Given the description of an element on the screen output the (x, y) to click on. 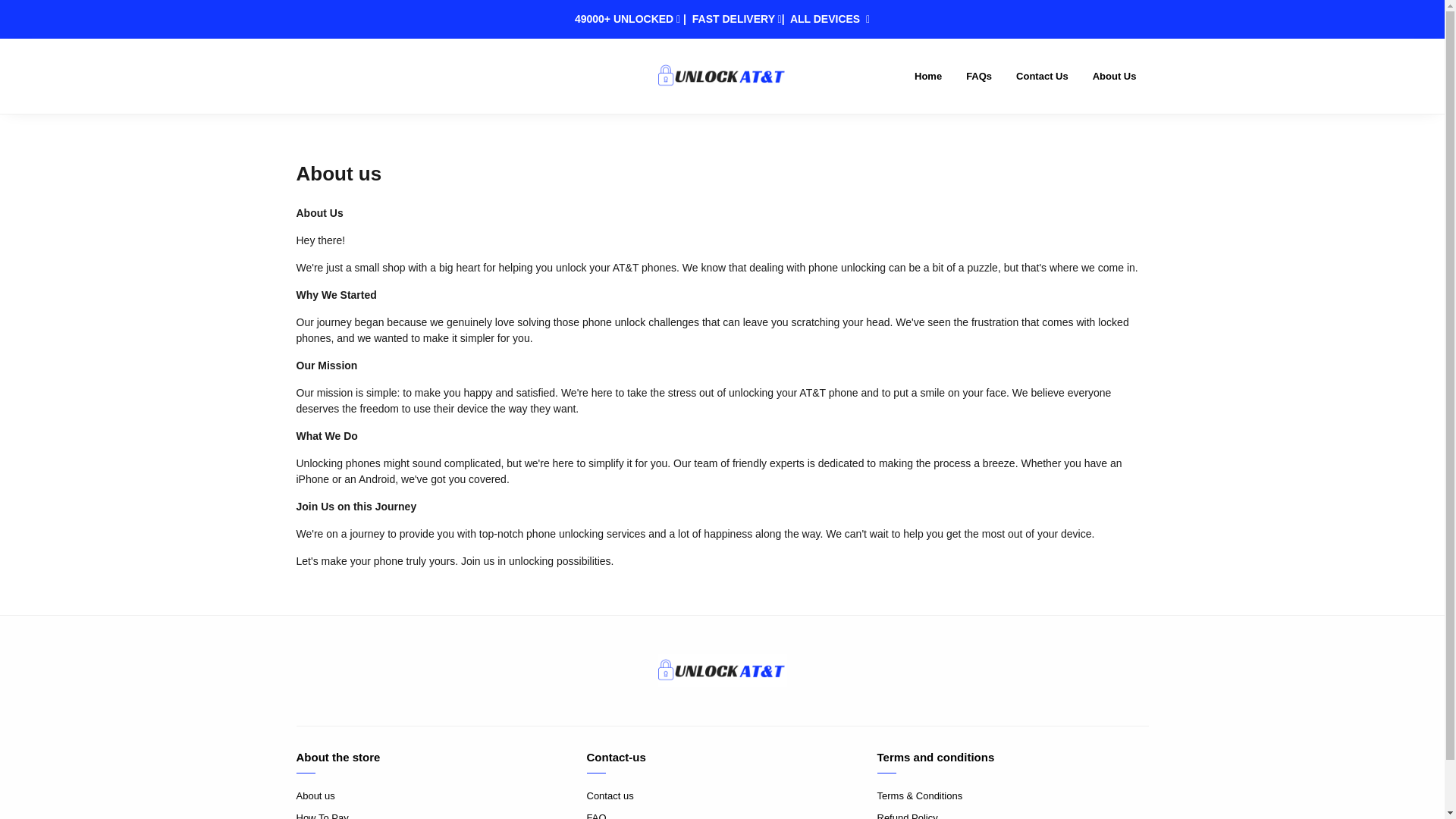
Refund Policy (1012, 814)
About us (431, 795)
About Us (1114, 75)
Contact us (722, 795)
FAQ (722, 814)
Contact Us (1042, 75)
How To Pay (431, 814)
